Given the description of an element on the screen output the (x, y) to click on. 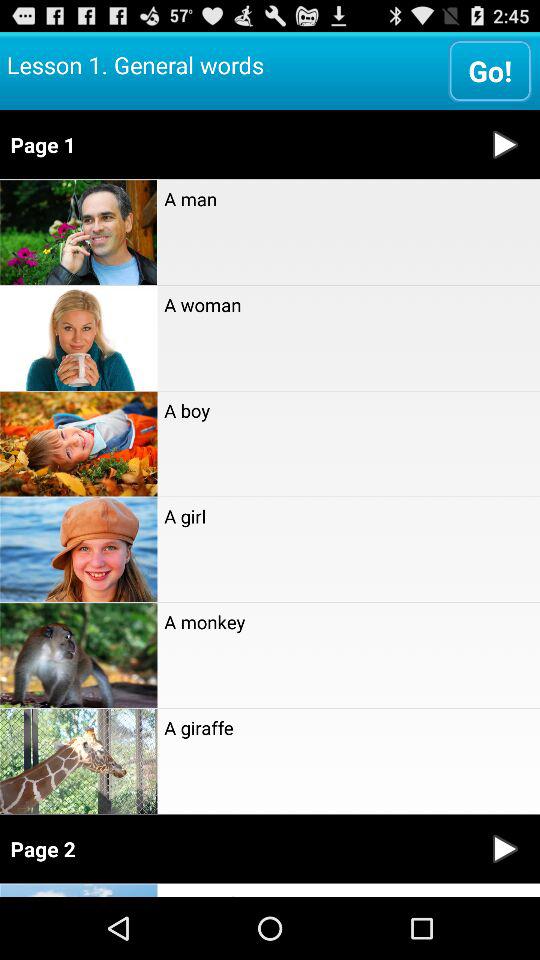
flip until a monkey app (348, 622)
